Given the description of an element on the screen output the (x, y) to click on. 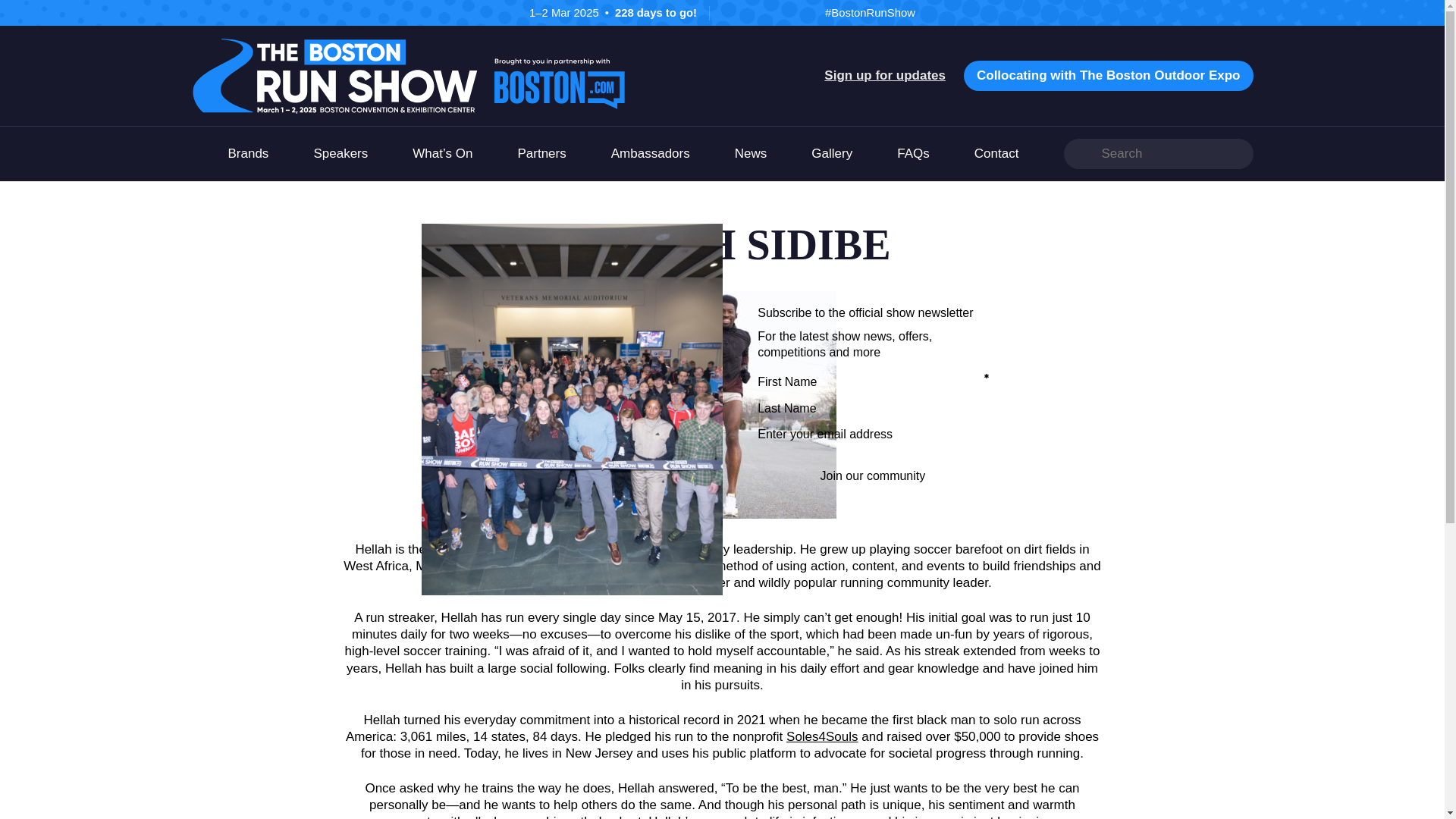
Ambassadors (650, 153)
Gallery (830, 153)
Partners (541, 153)
FAQs (913, 153)
Brands (247, 153)
Sign up for updates (884, 74)
Speakers (340, 153)
News (751, 153)
Collocating with The Boston Outdoor Expo (1108, 75)
Contact (996, 153)
Soles4Souls (822, 736)
